Given the description of an element on the screen output the (x, y) to click on. 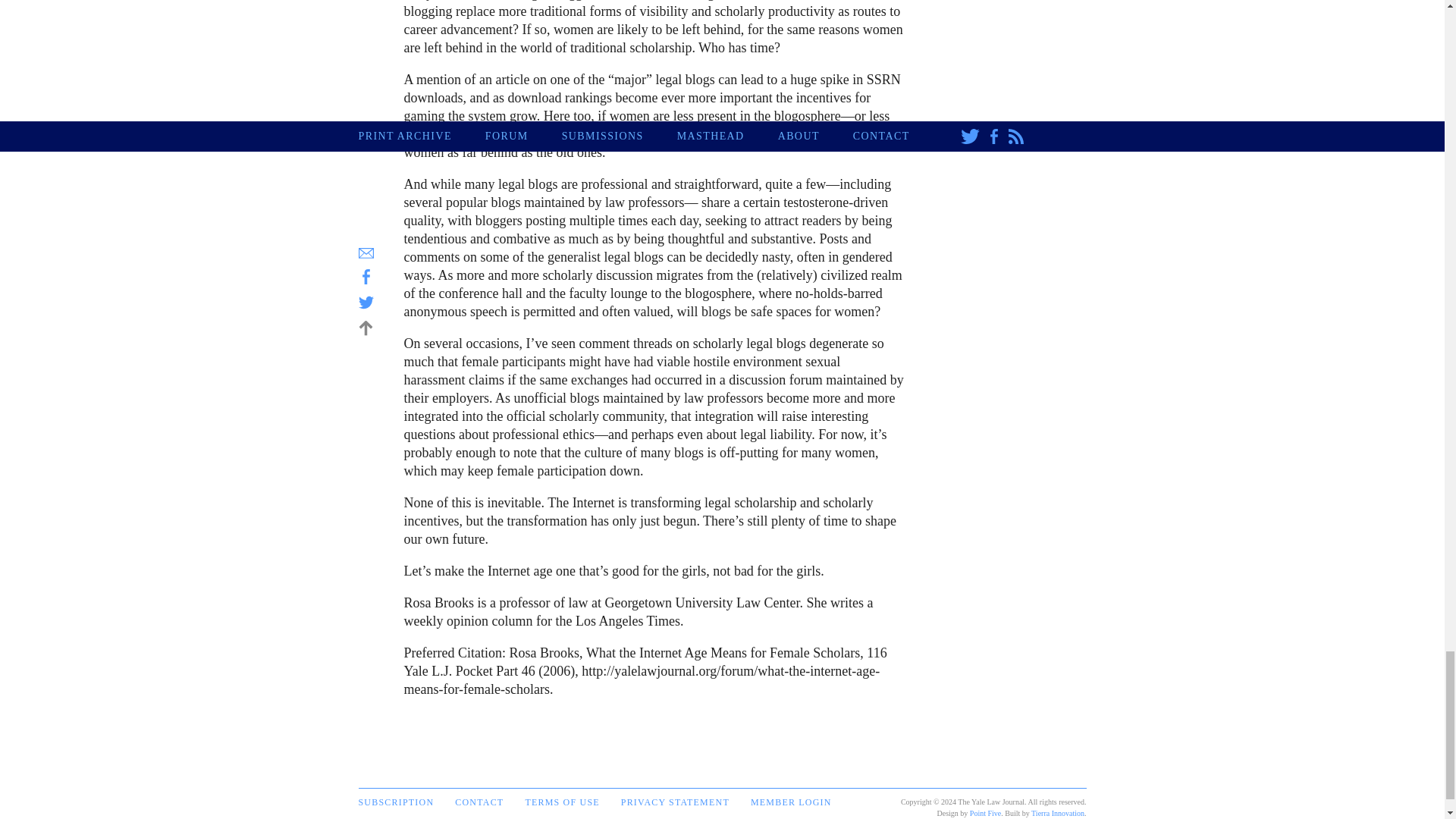
SUBSCRIPTION (395, 801)
MEMBER LOGIN (791, 801)
CONTACT (478, 801)
Tierra Innovation (1057, 813)
PRIVACY STATEMENT (675, 801)
TERMS OF USE (561, 801)
Point Five (985, 813)
